Given the description of an element on the screen output the (x, y) to click on. 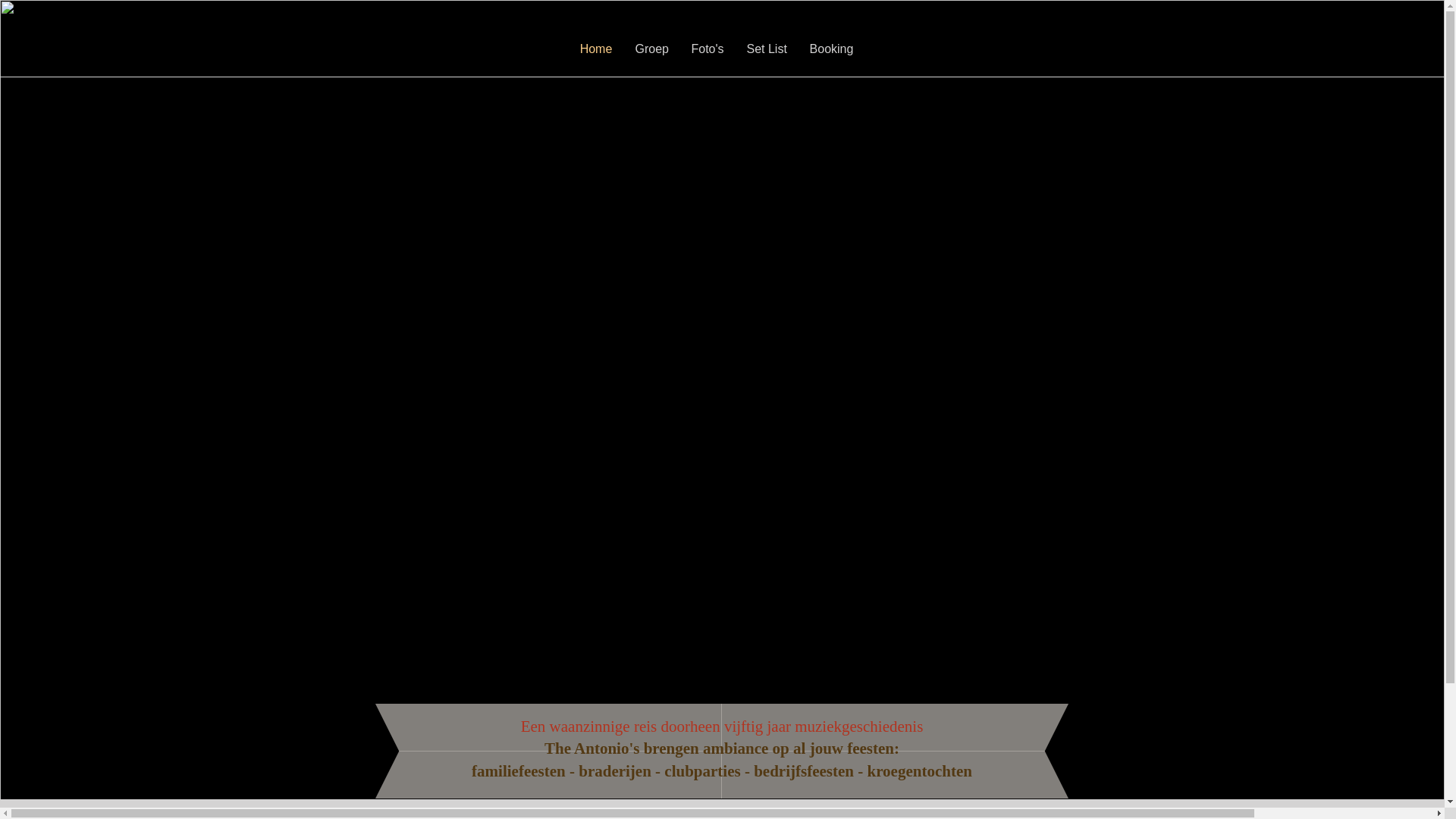
Home Element type: text (596, 48)
Set List Element type: text (766, 48)
Groep Element type: text (651, 48)
Booking Element type: text (830, 48)
Foto's Element type: text (706, 48)
